Given the description of an element on the screen output the (x, y) to click on. 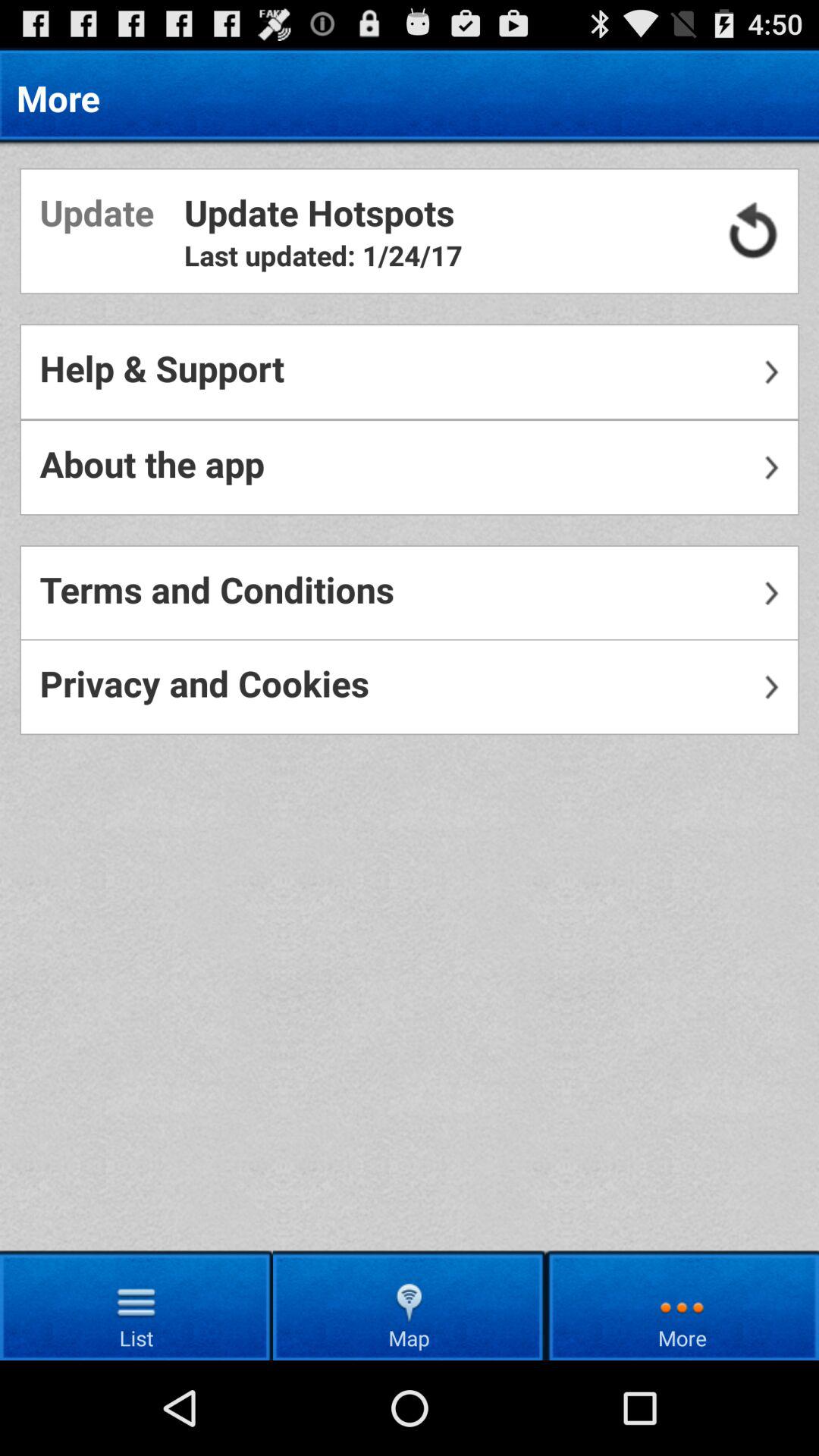
jump to privacy and cookies icon (409, 686)
